Given the description of an element on the screen output the (x, y) to click on. 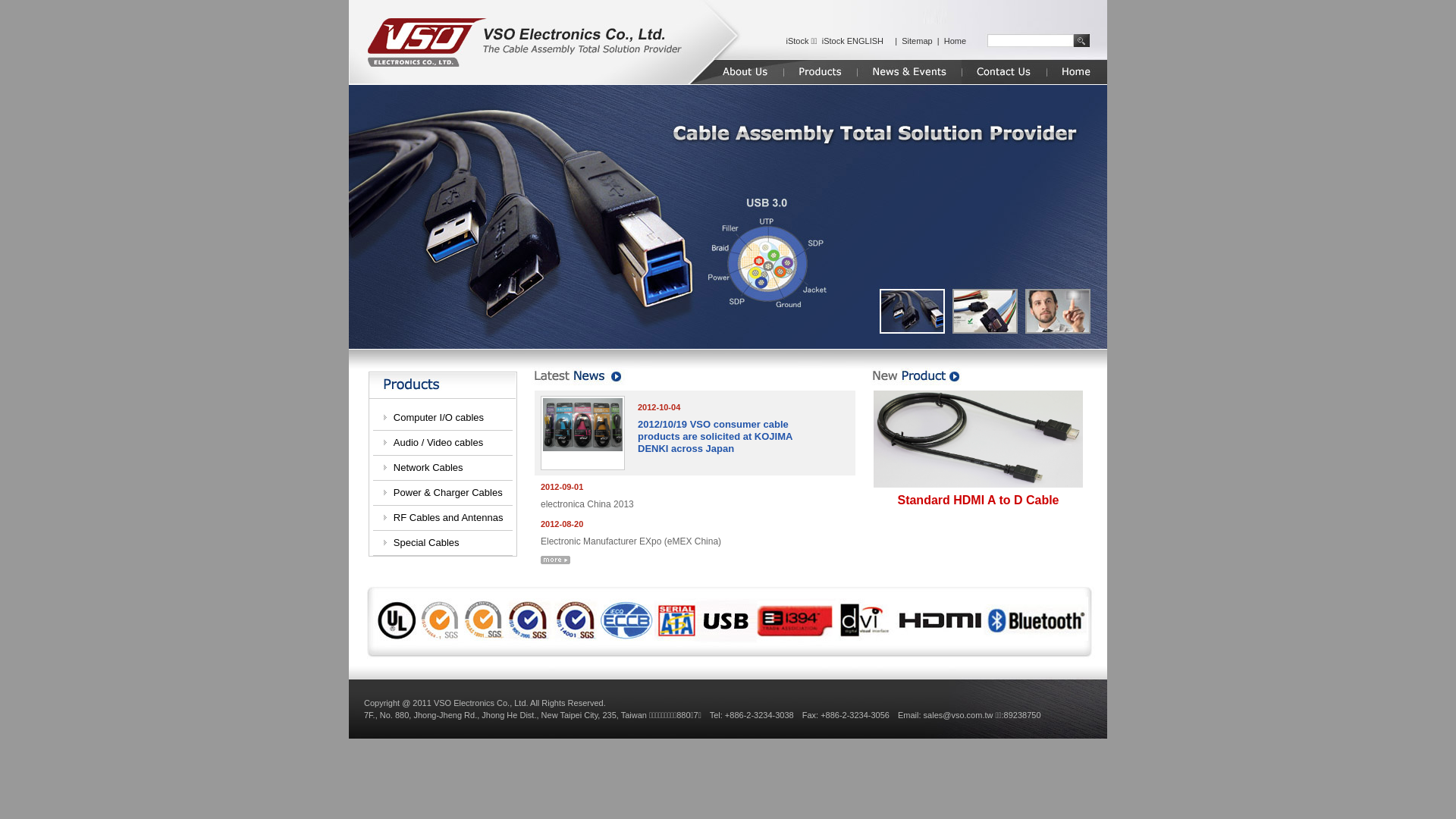
Computer I/O cables Element type: text (438, 417)
Power & Charger Cables Element type: text (447, 492)
Home Element type: text (955, 40)
electronica China 2013 Element type: text (586, 503)
Audio / Video cables Element type: text (438, 442)
iStock ENGLISH Element type: text (852, 40)
Network Cables Element type: text (428, 467)
RF Cables and Antennas Element type: text (448, 517)
Sitemap Element type: text (916, 40)
Electronic Manufacturer EXpo (eMEX China) Element type: text (630, 541)
Special Cables Element type: text (426, 542)
